Given the description of an element on the screen output the (x, y) to click on. 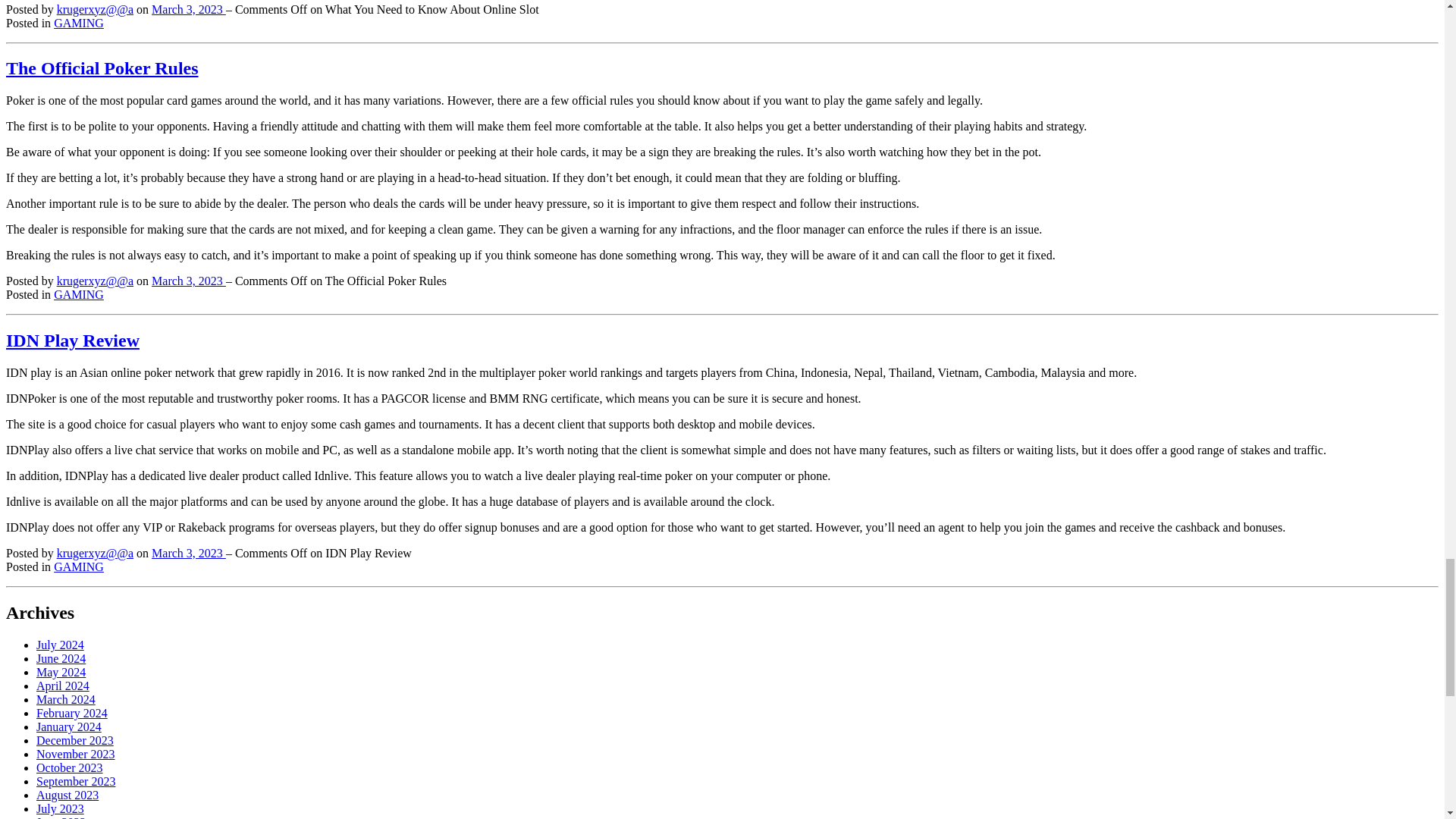
The Official Poker Rules (101, 67)
IDN Play Review (72, 340)
March 3, 2023 (188, 9)
June 2024 (60, 658)
August 2023 (67, 794)
September 2023 (75, 780)
October 2023 (69, 767)
May 2024 (60, 671)
GAMING (78, 566)
March 3, 2023 (188, 553)
April 2024 (62, 685)
July 2024 (60, 644)
June 2023 (60, 817)
GAMING (78, 294)
March 2024 (66, 698)
